Given the description of an element on the screen output the (x, y) to click on. 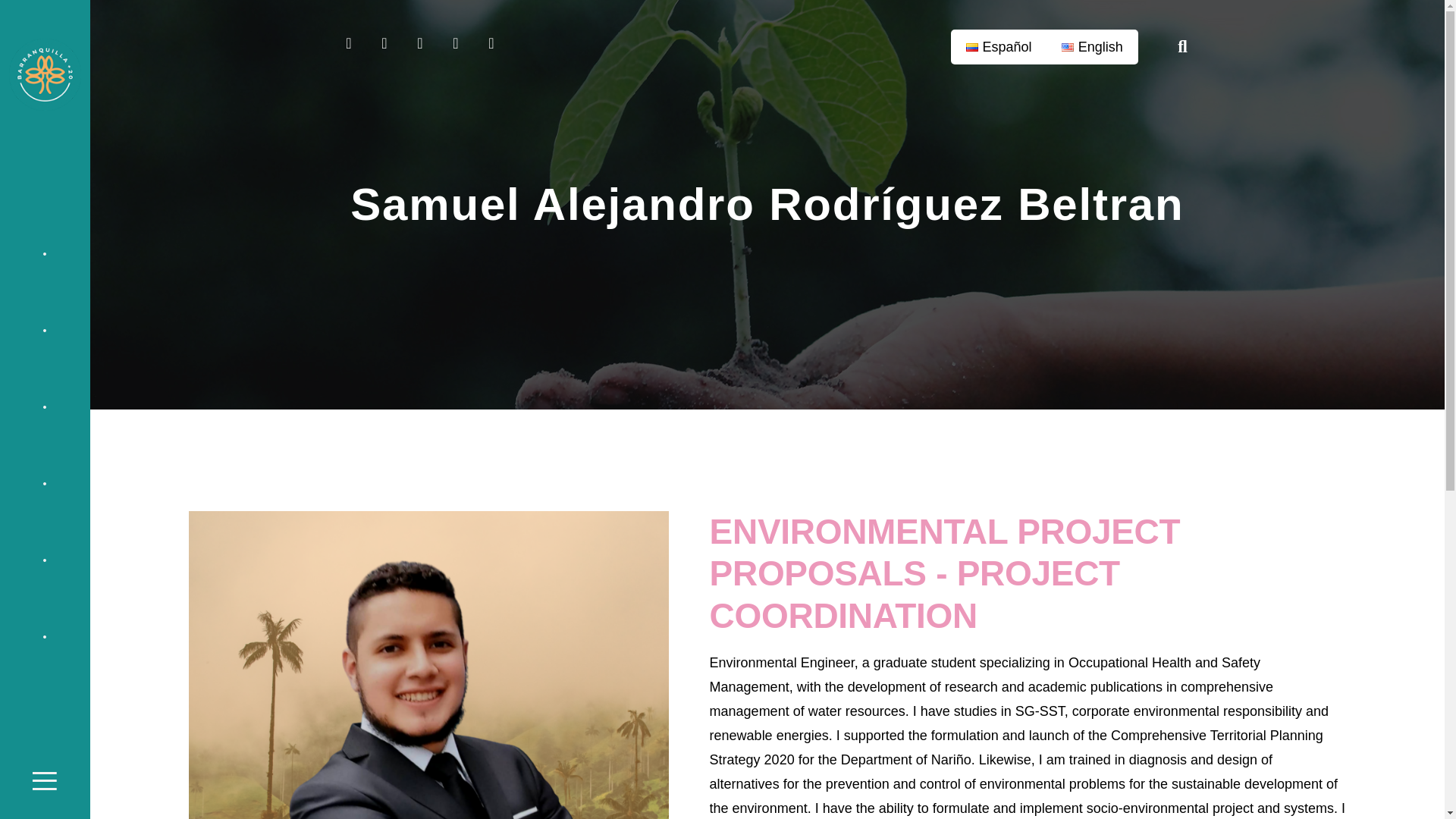
English (1091, 46)
